Given the description of an element on the screen output the (x, y) to click on. 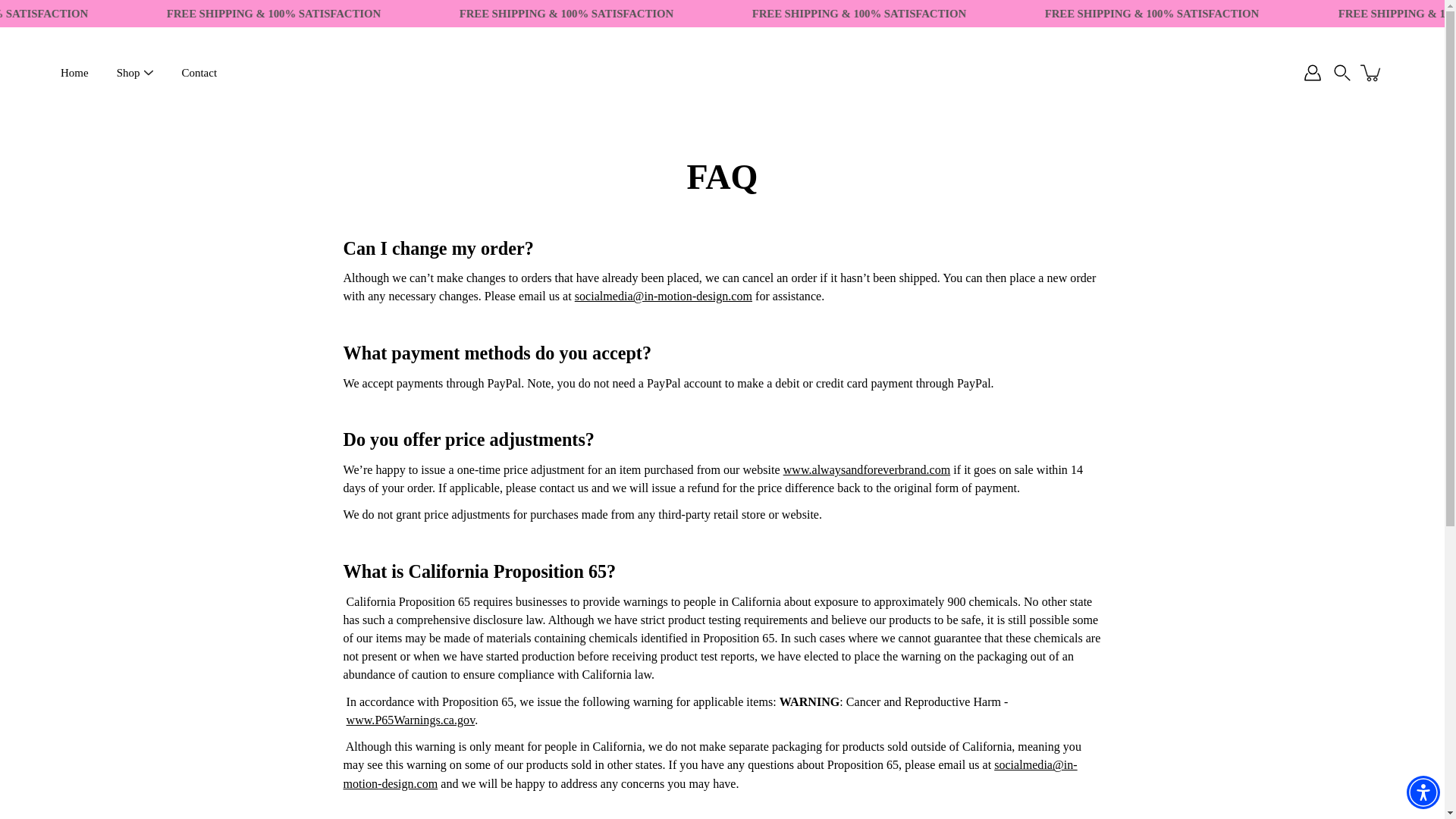
Home (74, 72)
Accessibility Menu (1422, 792)
Search (1342, 72)
Shop (127, 72)
Contact (198, 72)
